Given the description of an element on the screen output the (x, y) to click on. 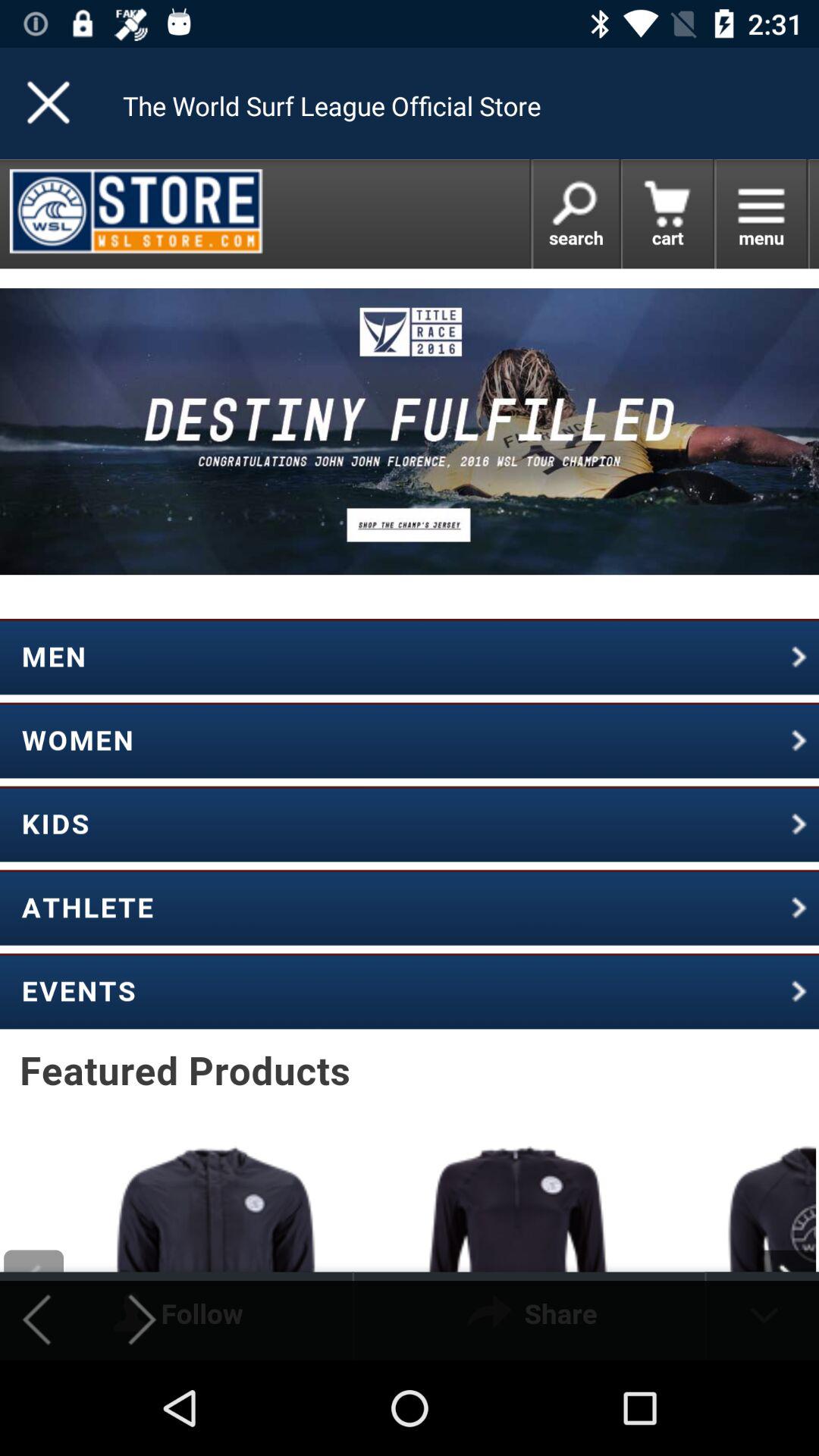
close (49, 103)
